Given the description of an element on the screen output the (x, y) to click on. 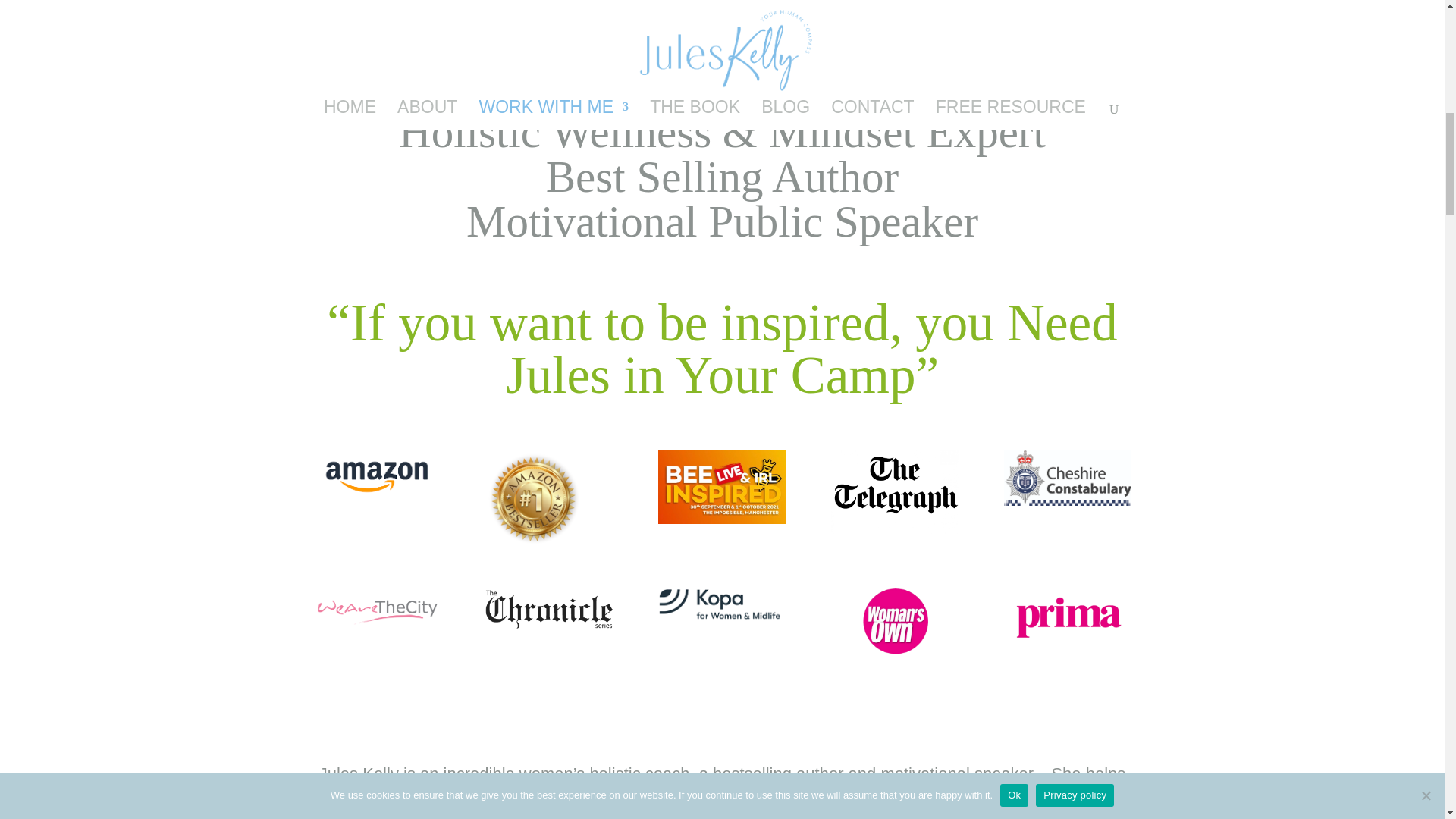
Screenshot 2021-12-06 at 16.57.19 (722, 604)
amazon (376, 476)
prima 2 (1067, 651)
the chronicle (548, 609)
we are the city (376, 607)
telegraph (894, 491)
amazon best seller (533, 498)
womans own 2 (894, 621)
Screen Shot 2021-09-28 at 12.45.09 (722, 487)
